Given the description of an element on the screen output the (x, y) to click on. 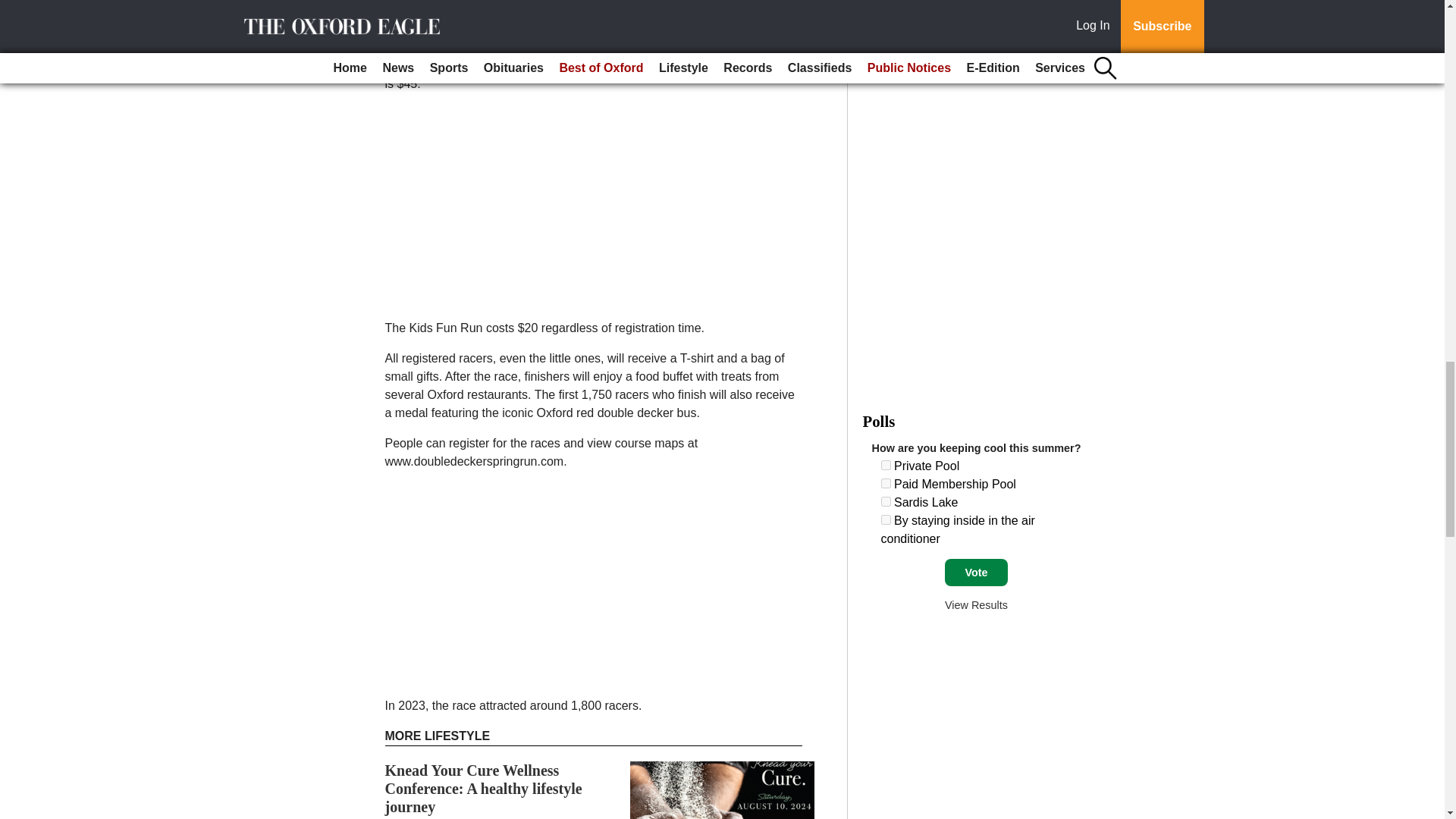
View Results Of This Poll (975, 604)
166 (885, 501)
   Vote    (975, 572)
167 (885, 519)
164 (885, 465)
165 (885, 483)
